Given the description of an element on the screen output the (x, y) to click on. 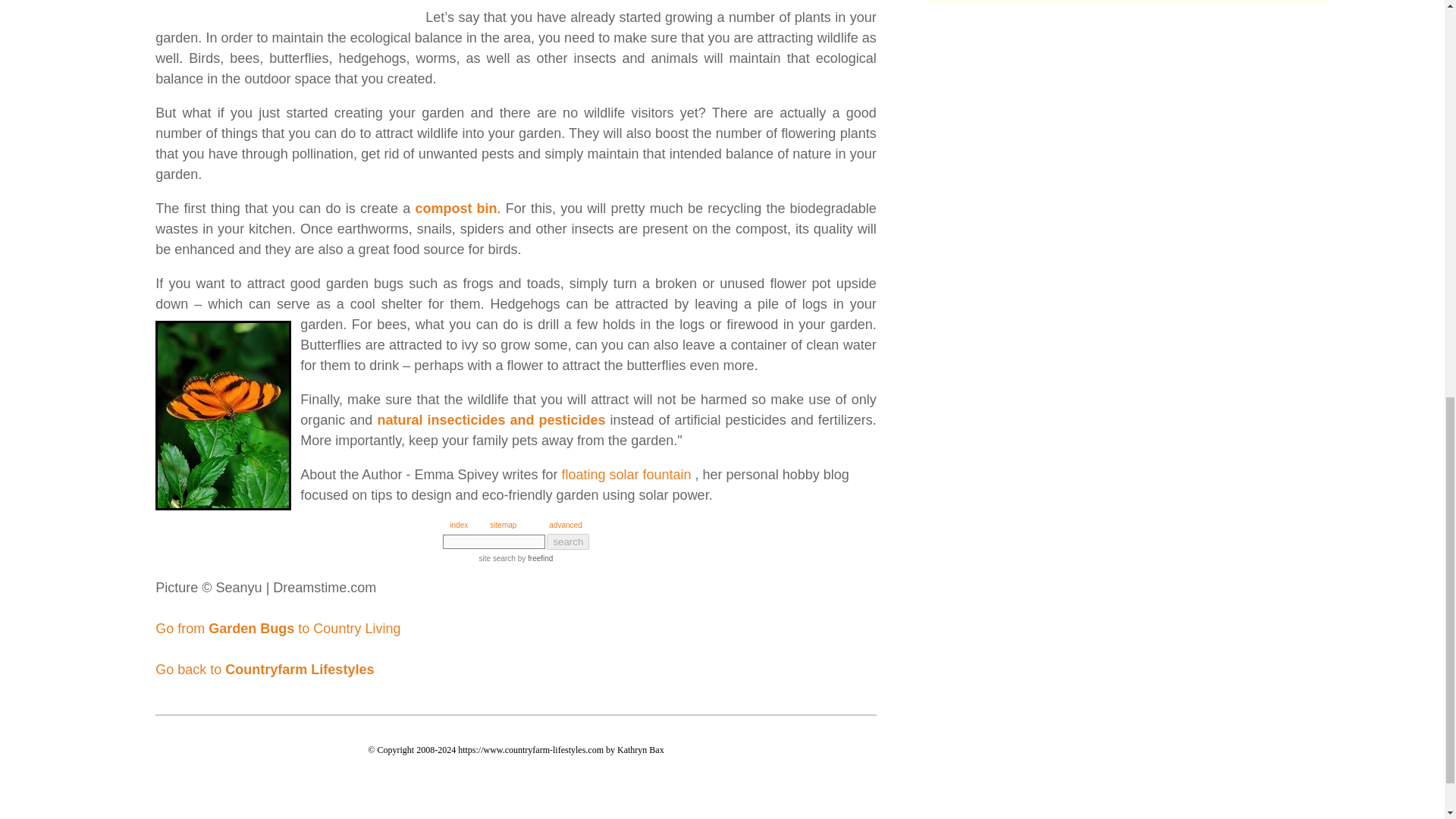
search (568, 541)
Go from Garden Bugs to Country Living (277, 628)
search (568, 541)
advanced (564, 524)
compost bin (455, 208)
natural insecticides and pesticides (491, 419)
sitemap (502, 524)
site search (497, 558)
index (458, 524)
by freefind (534, 558)
Go back to Countryfarm Lifestyles (264, 669)
floating solar fountain (625, 474)
